Given the description of an element on the screen output the (x, y) to click on. 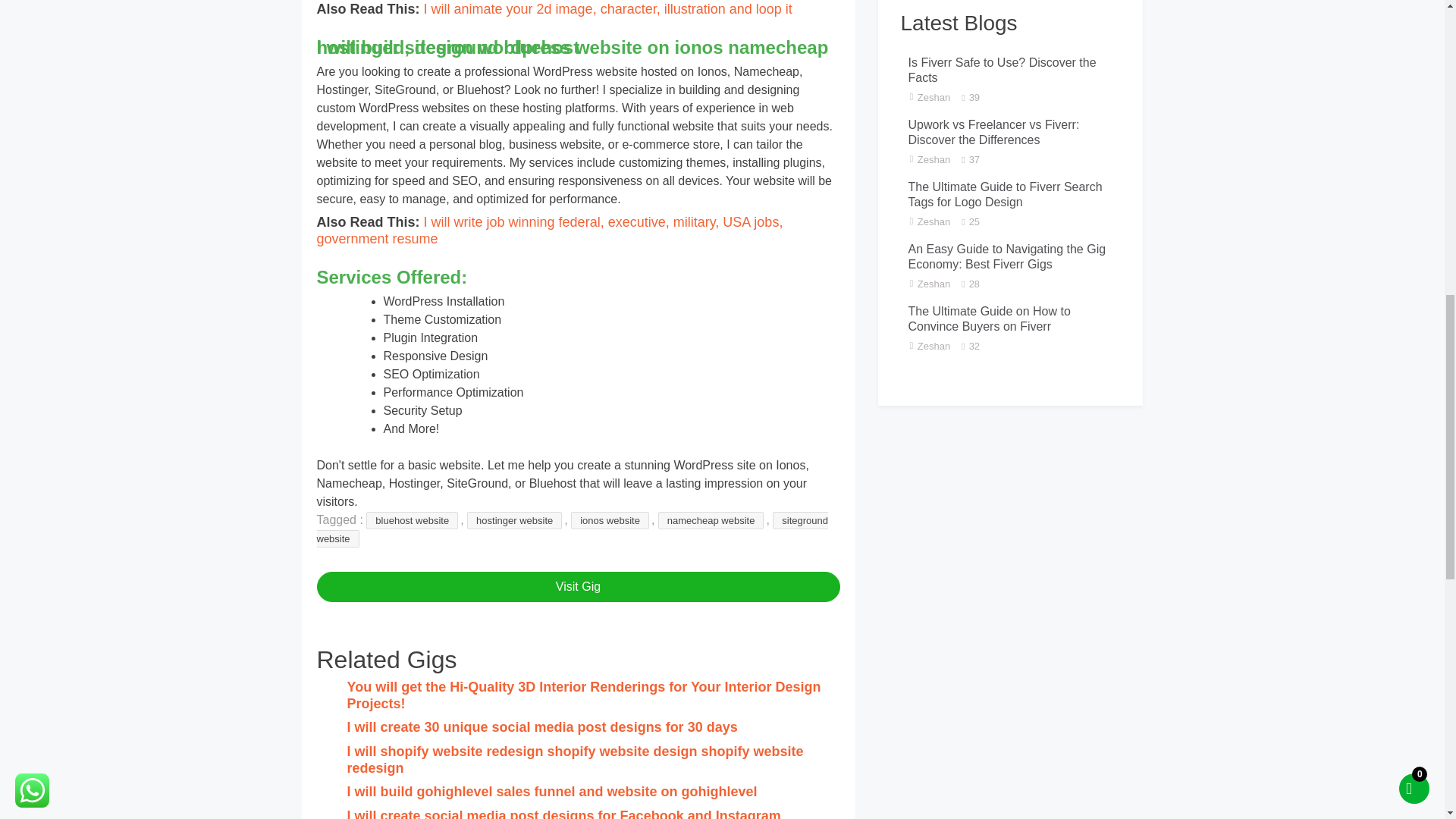
hostinger website (514, 520)
Visit Gig (578, 586)
namecheap website (711, 520)
ionos website (609, 520)
bluehost website (412, 520)
